Given the description of an element on the screen output the (x, y) to click on. 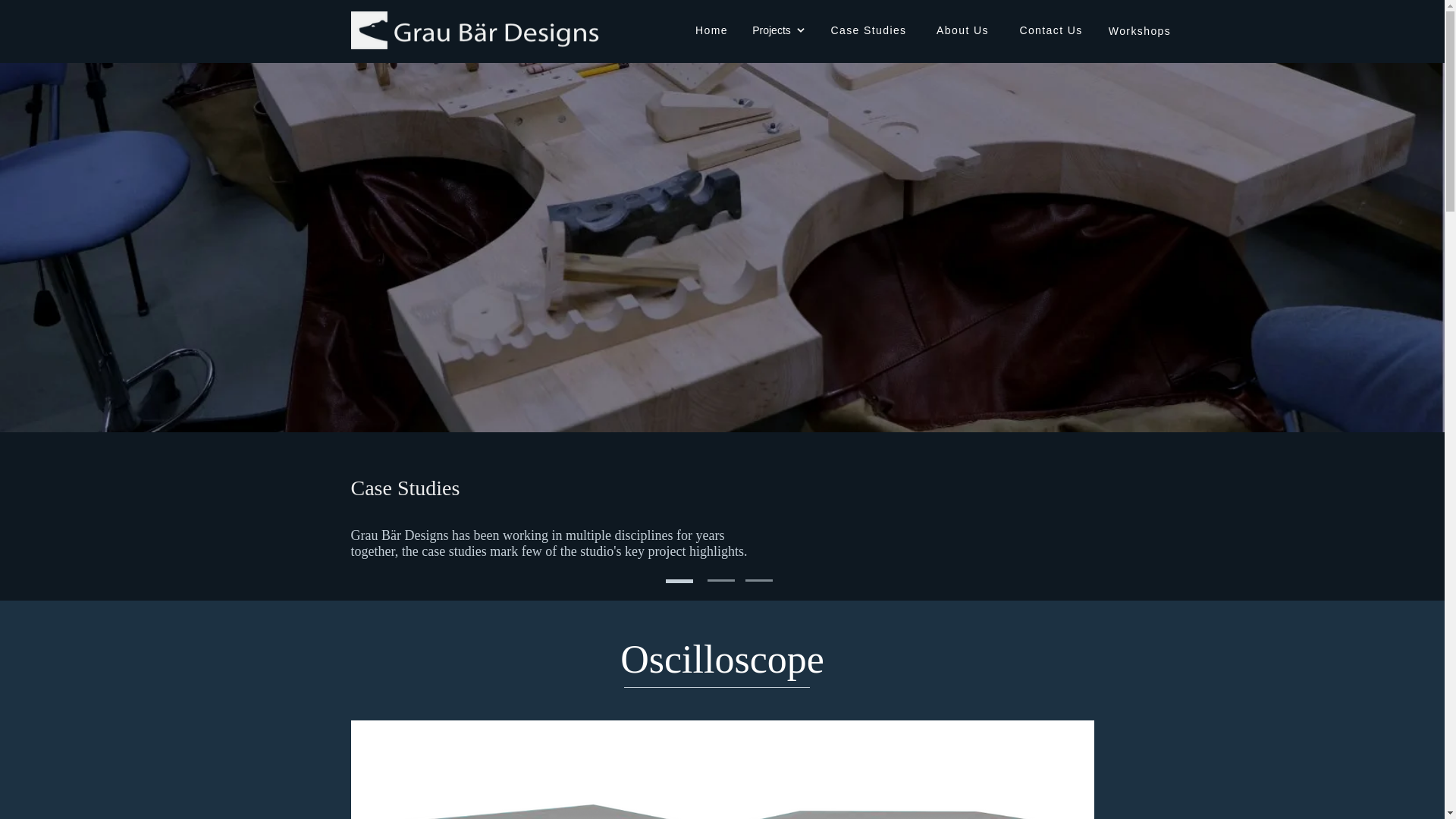
Workshops (1141, 30)
Contact Us (1052, 30)
Case Studies (870, 30)
Home (713, 30)
About Us (963, 30)
Projects (777, 30)
